Given the description of an element on the screen output the (x, y) to click on. 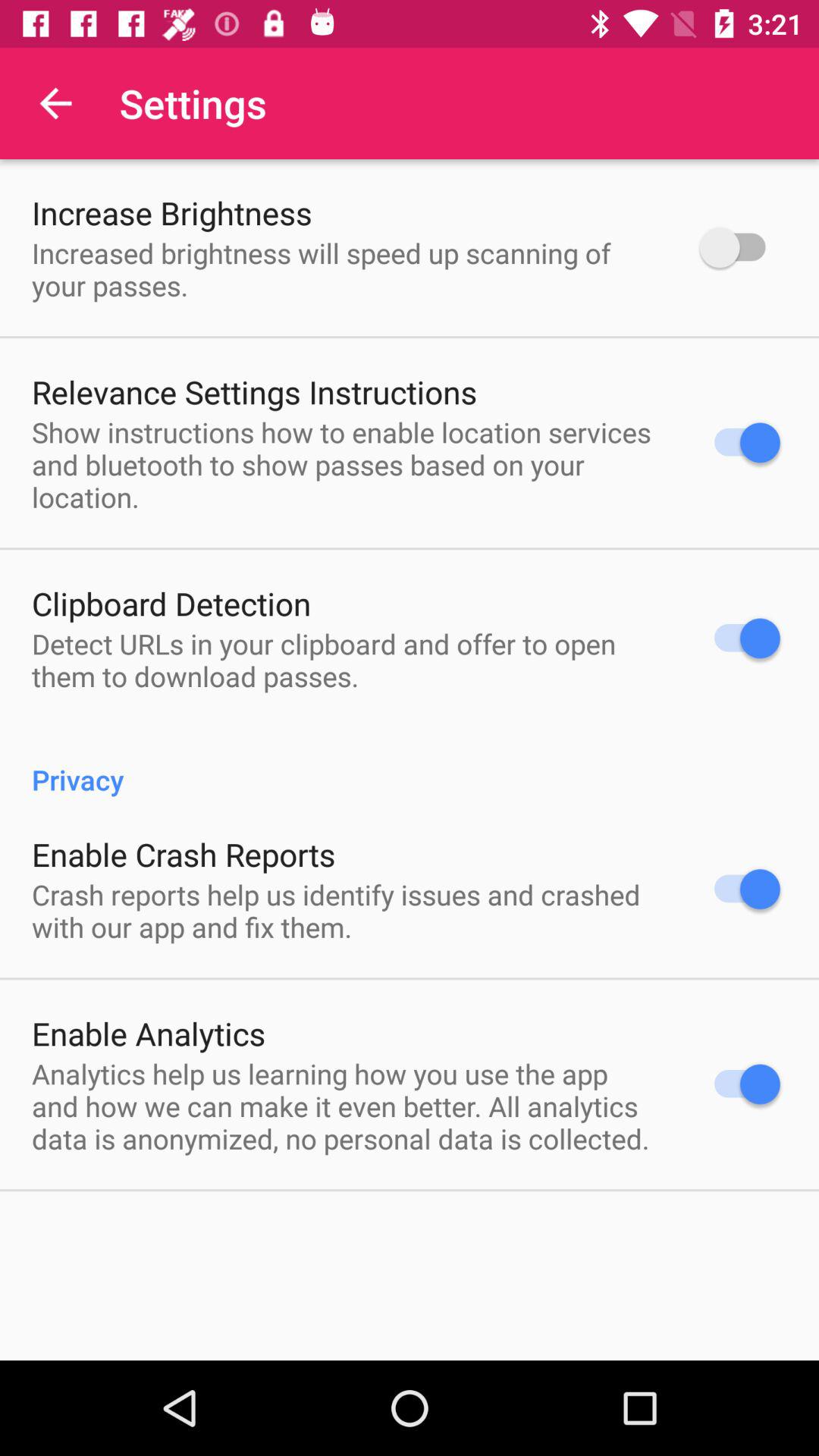
click the item next to the settings item (55, 103)
